Given the description of an element on the screen output the (x, y) to click on. 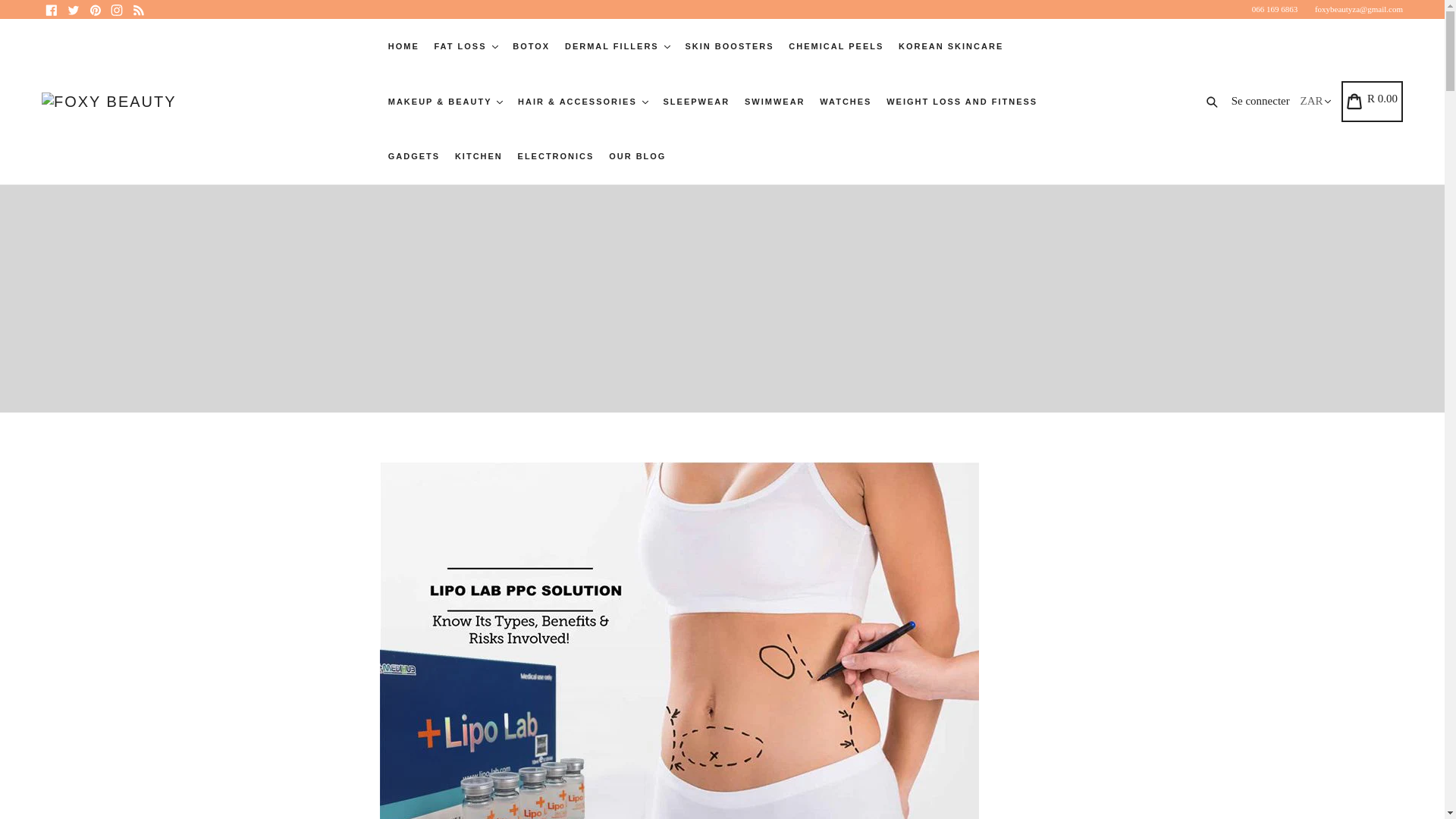
Foxy Beauty sur Facebook (51, 9)
Foxy Beauty sur Instagram (116, 9)
Foxy Beauty sur Pinterest (94, 9)
Foxy Beauty sur Twitter (73, 9)
